Given the description of an element on the screen output the (x, y) to click on. 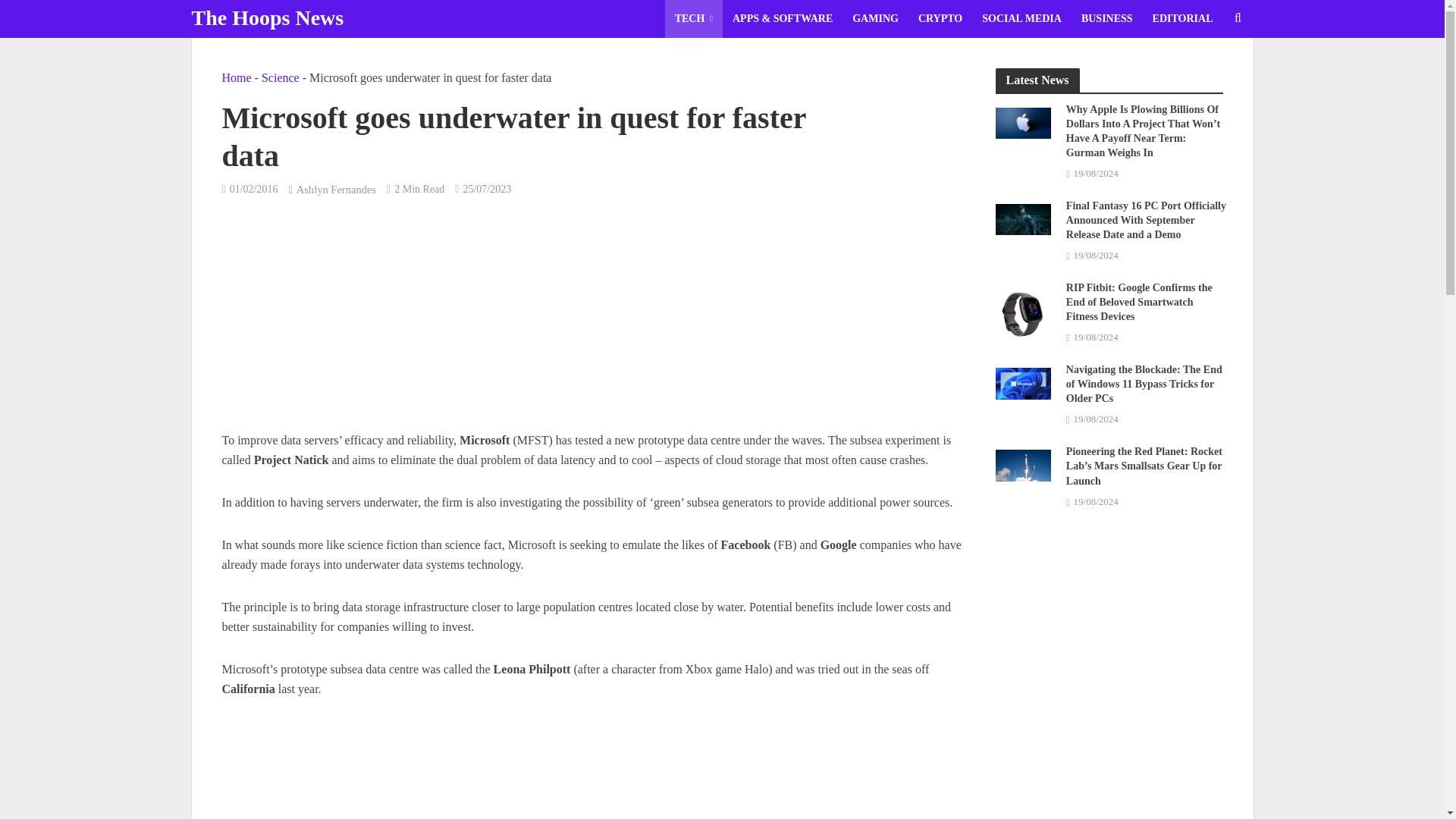
BUSINESS (1106, 18)
Advertisement (592, 770)
TECH (693, 18)
The Hoops News (266, 17)
Home (235, 77)
Science (280, 77)
SOCIAL MEDIA (1021, 18)
Ashlyn Fernandes (336, 191)
